Given the description of an element on the screen output the (x, y) to click on. 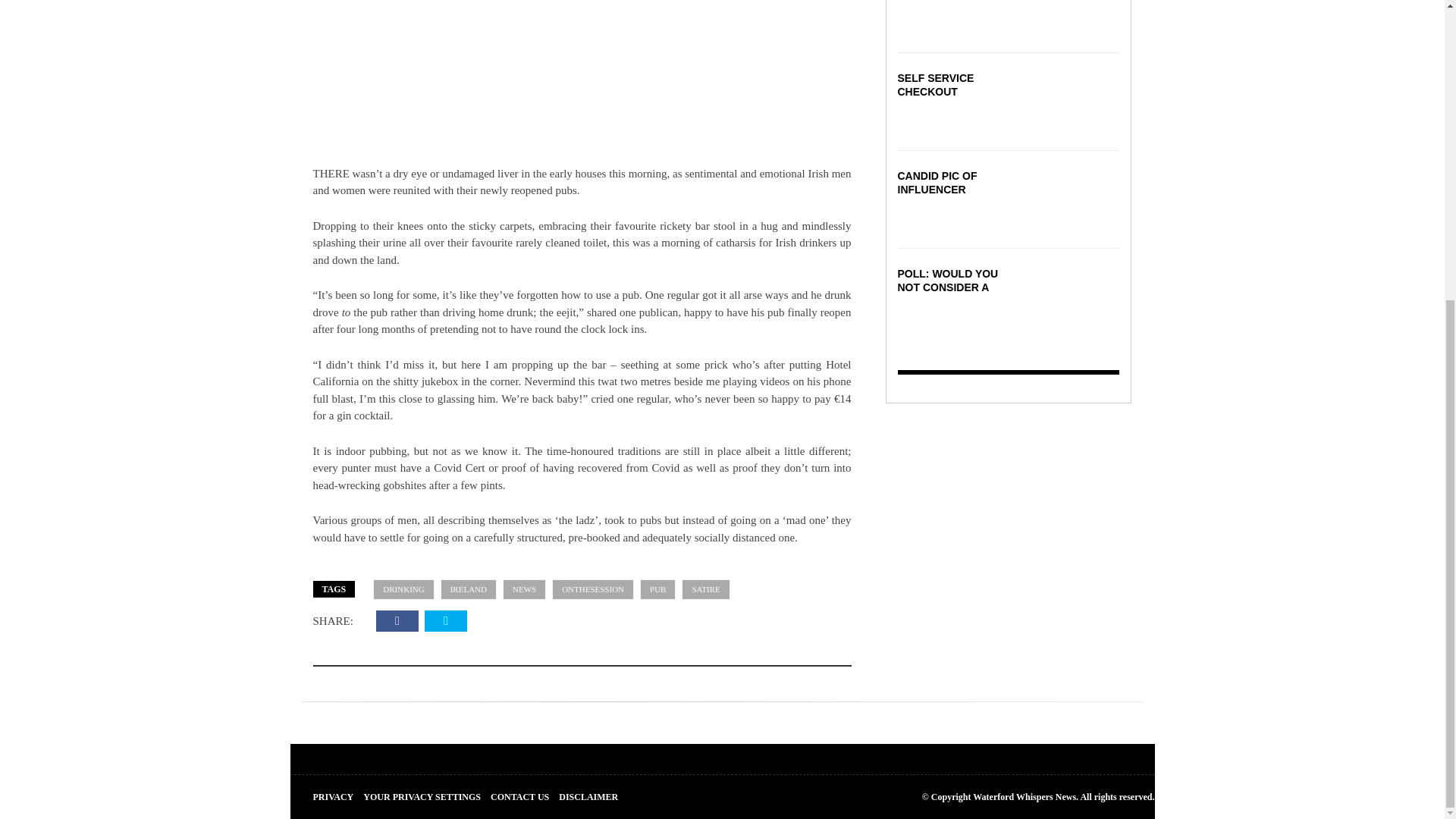
View all posts tagged onthesession (592, 589)
View all posts tagged satire (705, 589)
View all posts tagged drinking (402, 589)
View all posts tagged ireland (468, 589)
View all posts tagged pub (657, 589)
View all posts tagged news (524, 589)
